Given the description of an element on the screen output the (x, y) to click on. 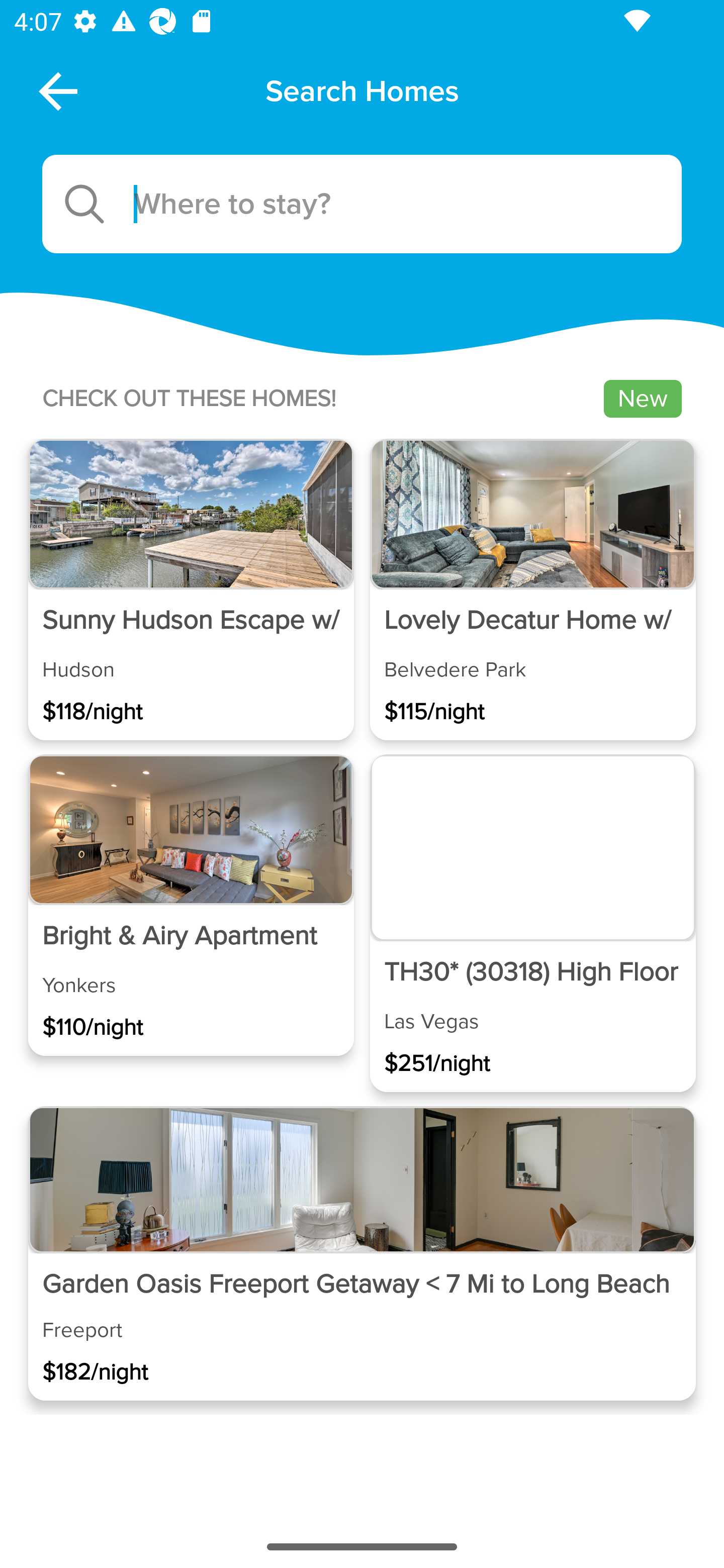
Icon close screen (55, 90)
Search icon Where to stay? (361, 204)
